Given the description of an element on the screen output the (x, y) to click on. 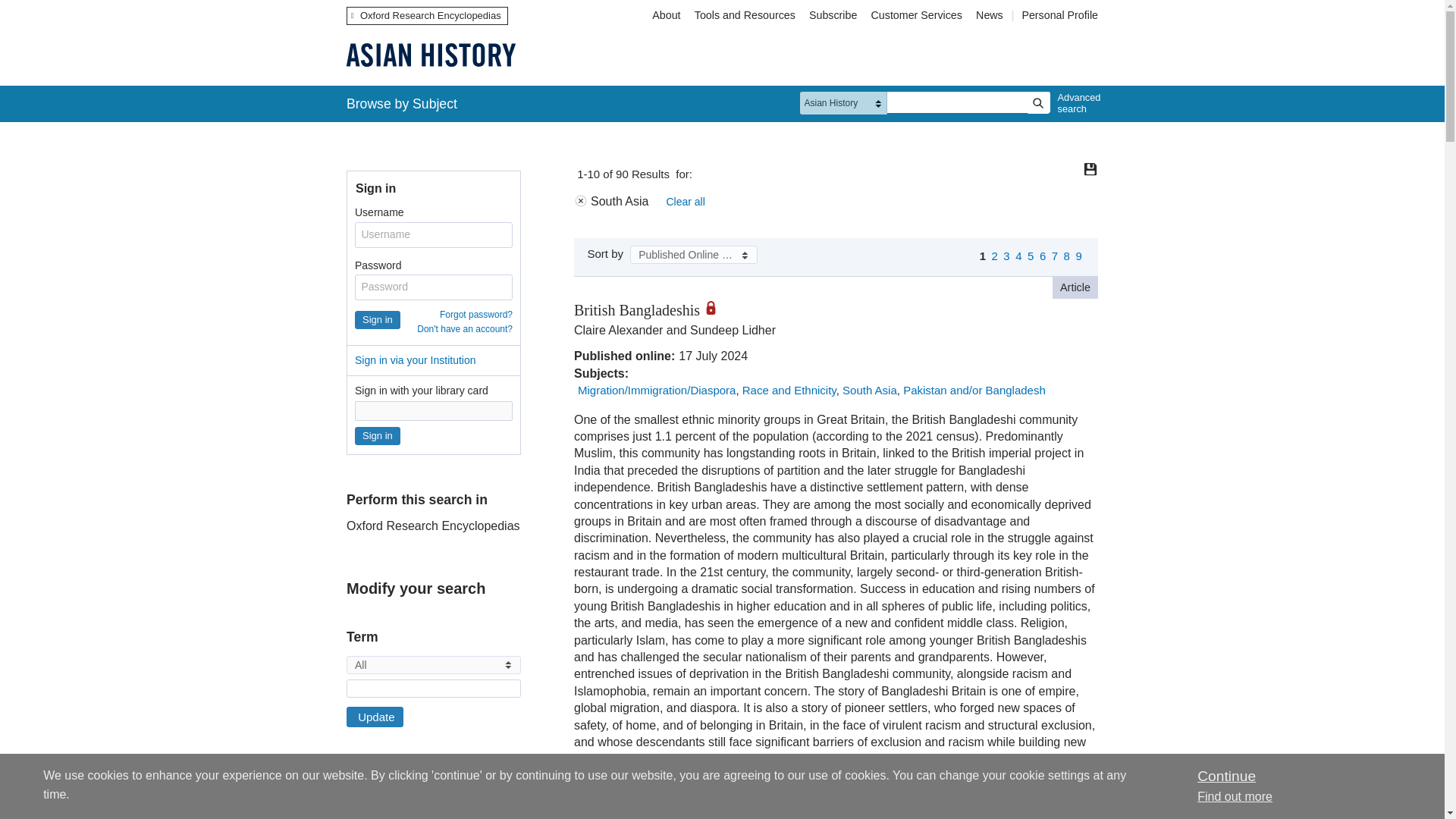
How we use cookies on this site (1234, 796)
Advanced search (1075, 103)
Save (1090, 168)
Jump to Content (55, 11)
Tools and Resources (744, 15)
Browse by Subject (401, 103)
Sign in (377, 434)
Continue (1225, 775)
Oxford Research Encyclopedia of Asian History (430, 54)
 Update (374, 716)
Close this message (1225, 775)
About (665, 15)
Find out more (1234, 796)
Forgot password? (475, 314)
Search (1037, 102)
